Given the description of an element on the screen output the (x, y) to click on. 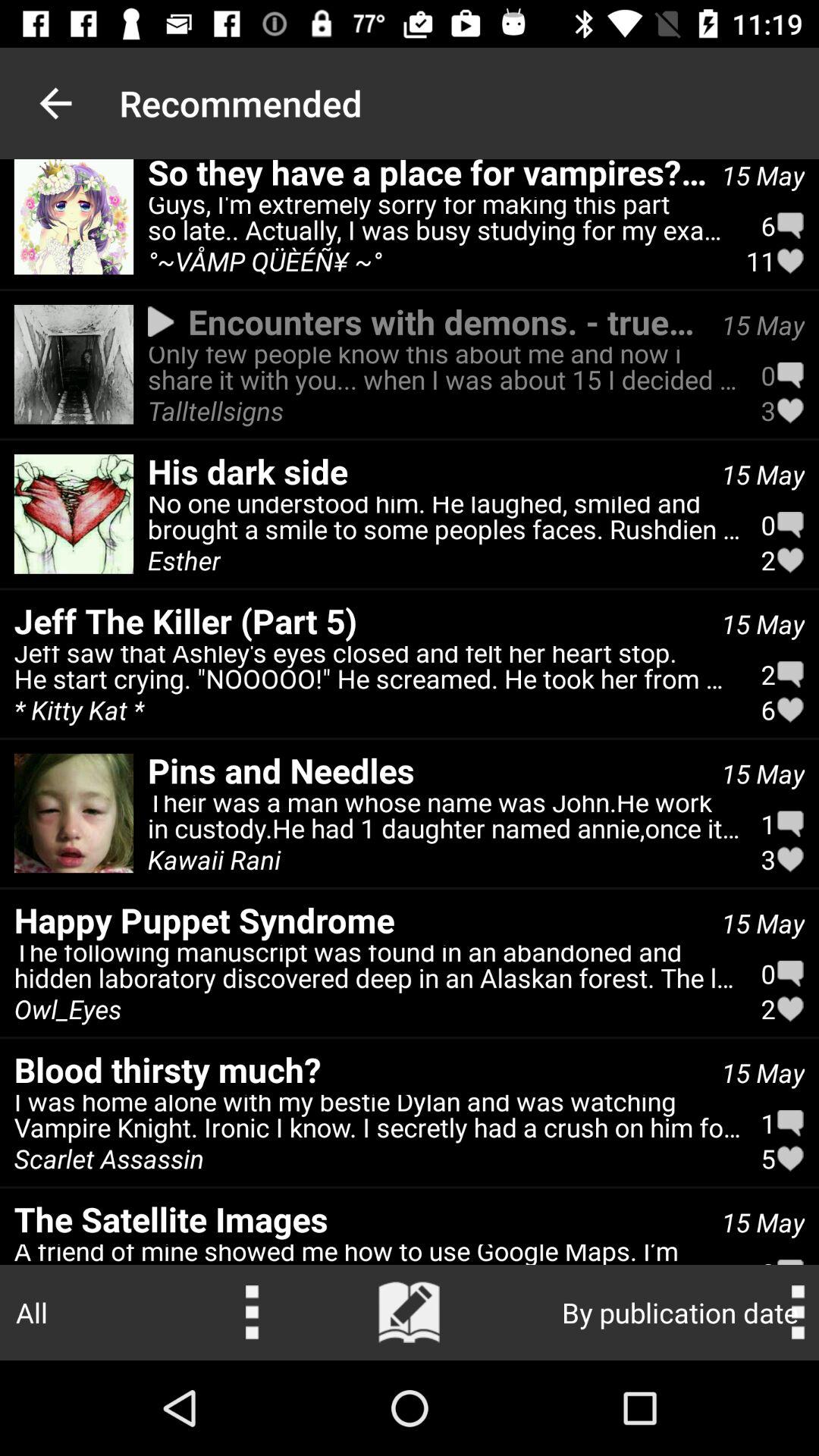
bookmark (409, 1312)
